Given the description of an element on the screen output the (x, y) to click on. 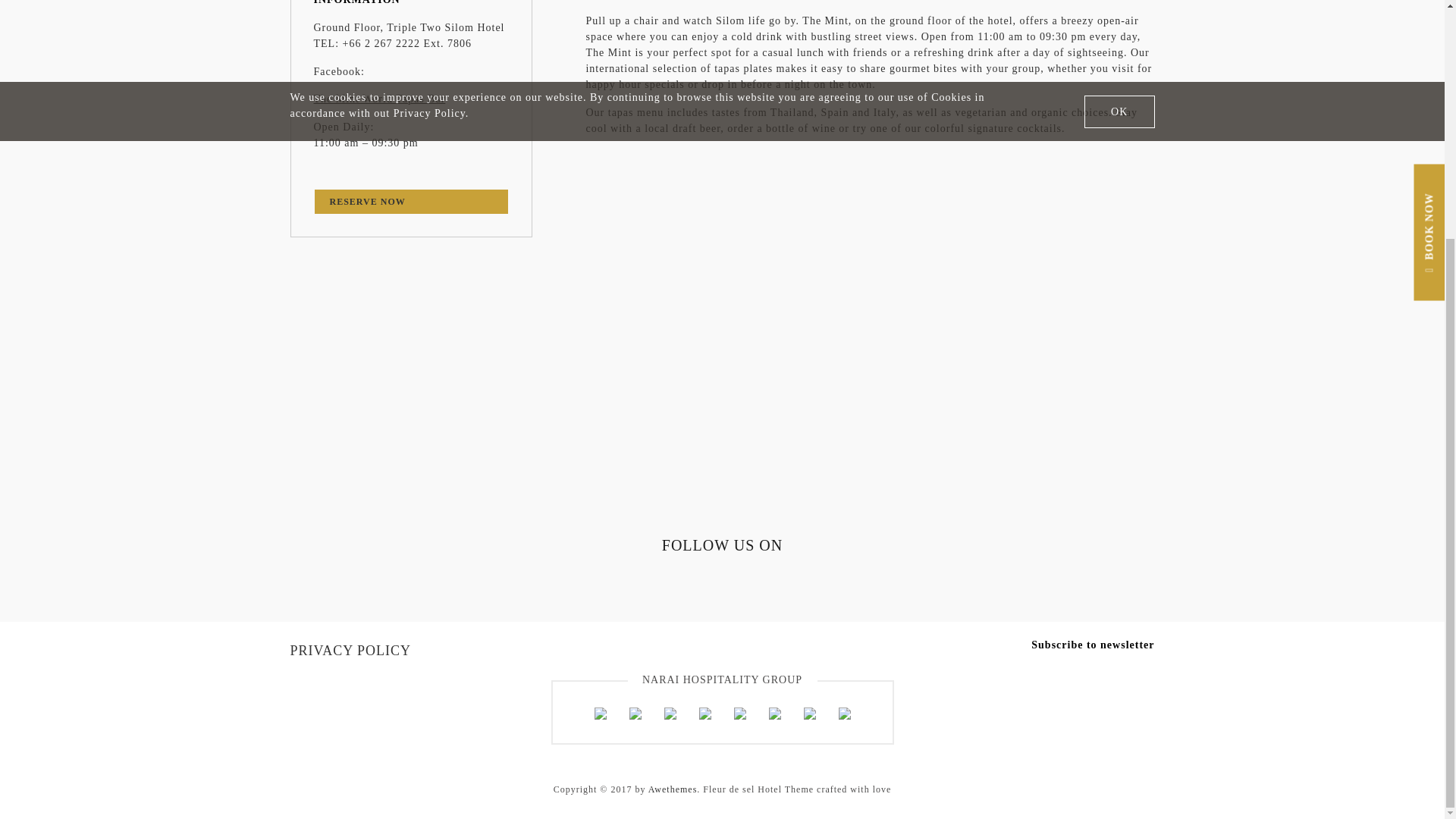
RESERVE NOW (411, 201)
PRIVACY POLICY (359, 650)
Awethemes (672, 788)
The Mint World Tapas Bar (411, 98)
